Given the description of an element on the screen output the (x, y) to click on. 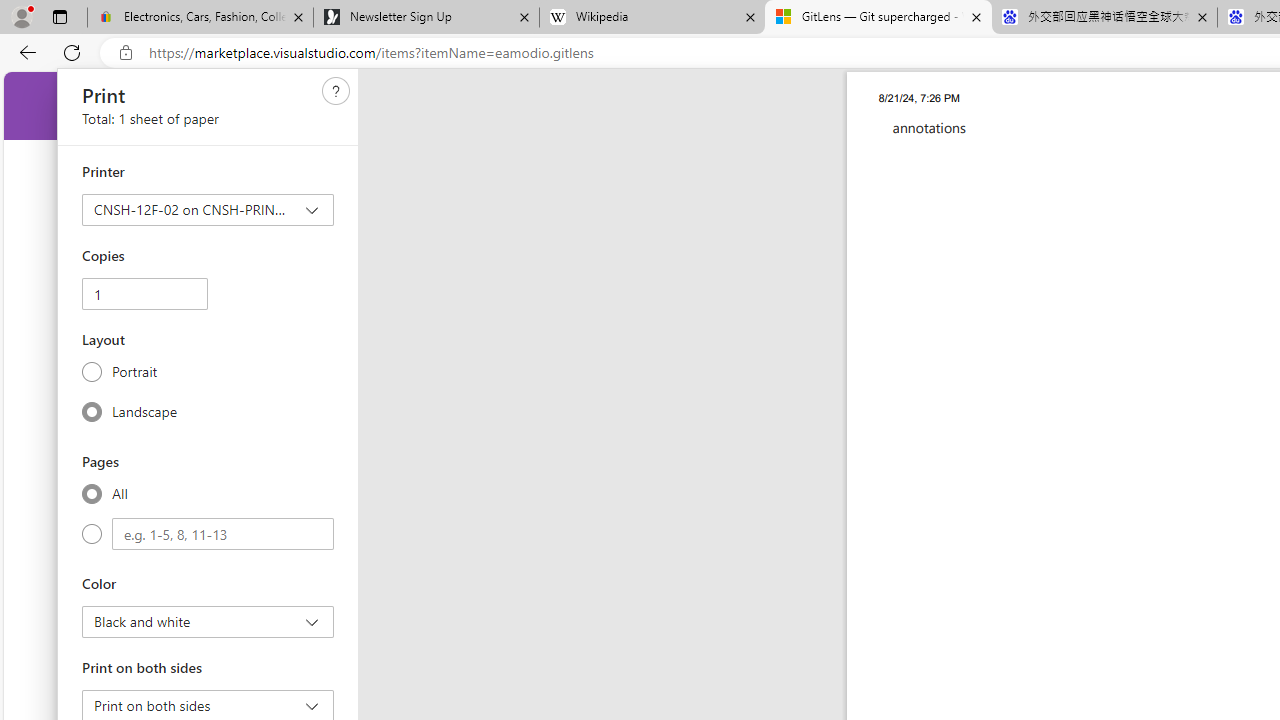
Landscape (91, 411)
Class: c0129 (335, 90)
Printer CNSH-12F-02 on CNSH-PRINT-01 (207, 209)
Color Black and white (207, 621)
Copies (144, 293)
Portrait (91, 372)
All (91, 493)
Custom (91, 534)
Custom (223, 533)
Need help (335, 91)
